Given the description of an element on the screen output the (x, y) to click on. 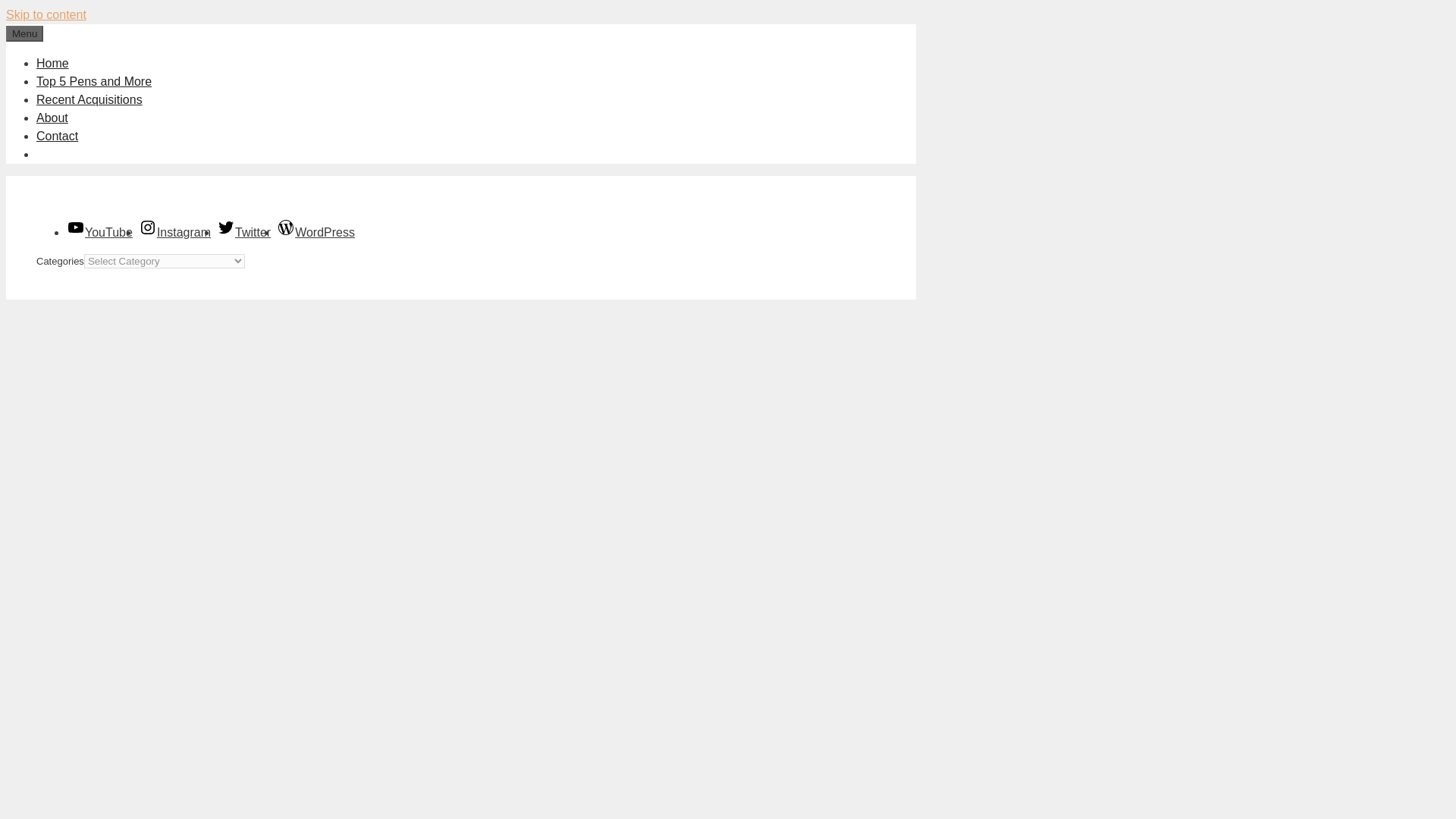
Top 5 Pens and More (93, 81)
Recent Acquisitions (89, 99)
Skip to content (45, 14)
Skip to content (45, 14)
Menu (24, 33)
Home (52, 62)
Instagram (174, 232)
About (52, 117)
WordPress (315, 232)
Twitter (243, 232)
